Given the description of an element on the screen output the (x, y) to click on. 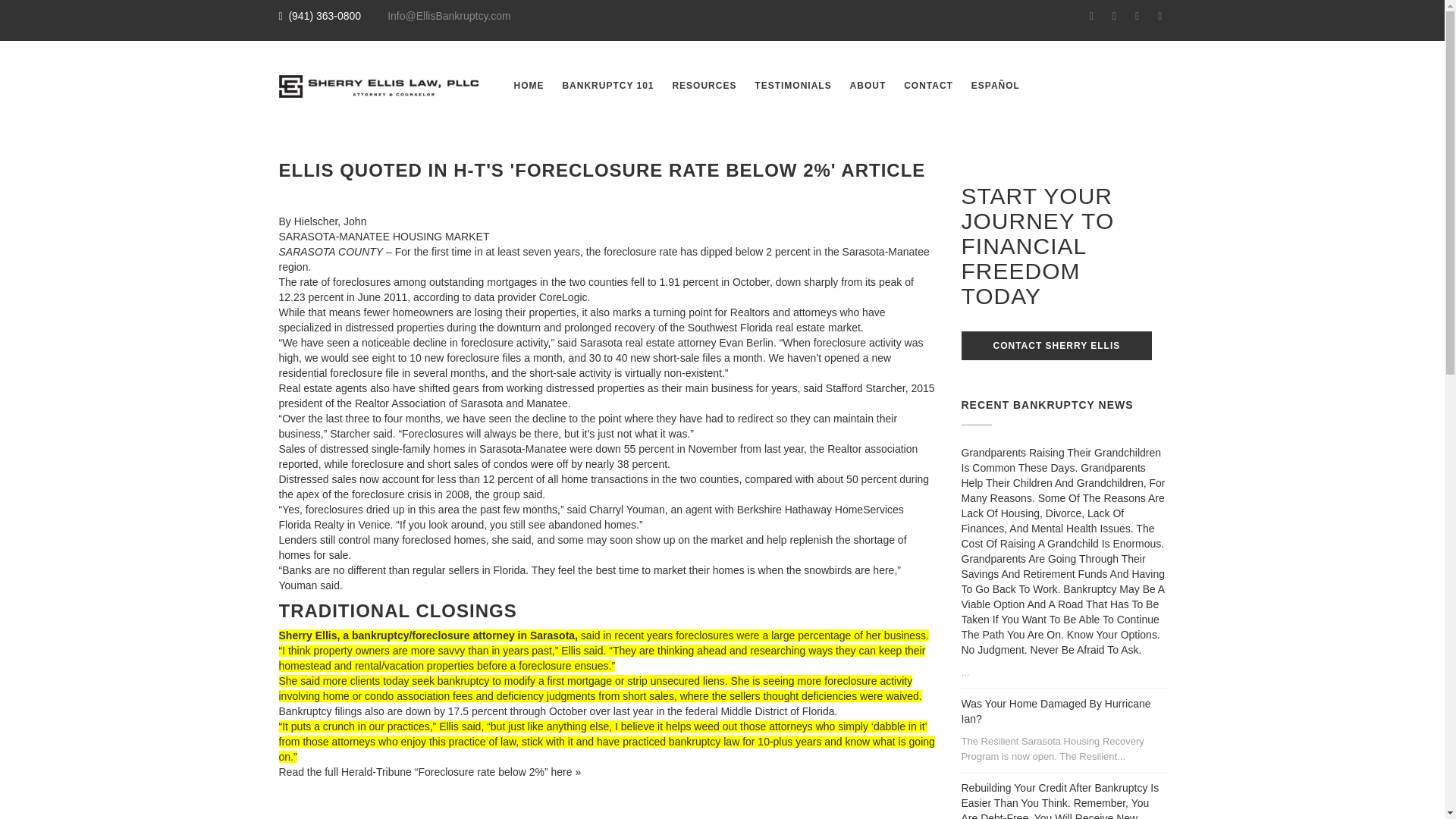
TESTIMONIALS (792, 85)
BANKRUPTCY 101 (607, 85)
RESOURCES (703, 85)
